Given the description of an element on the screen output the (x, y) to click on. 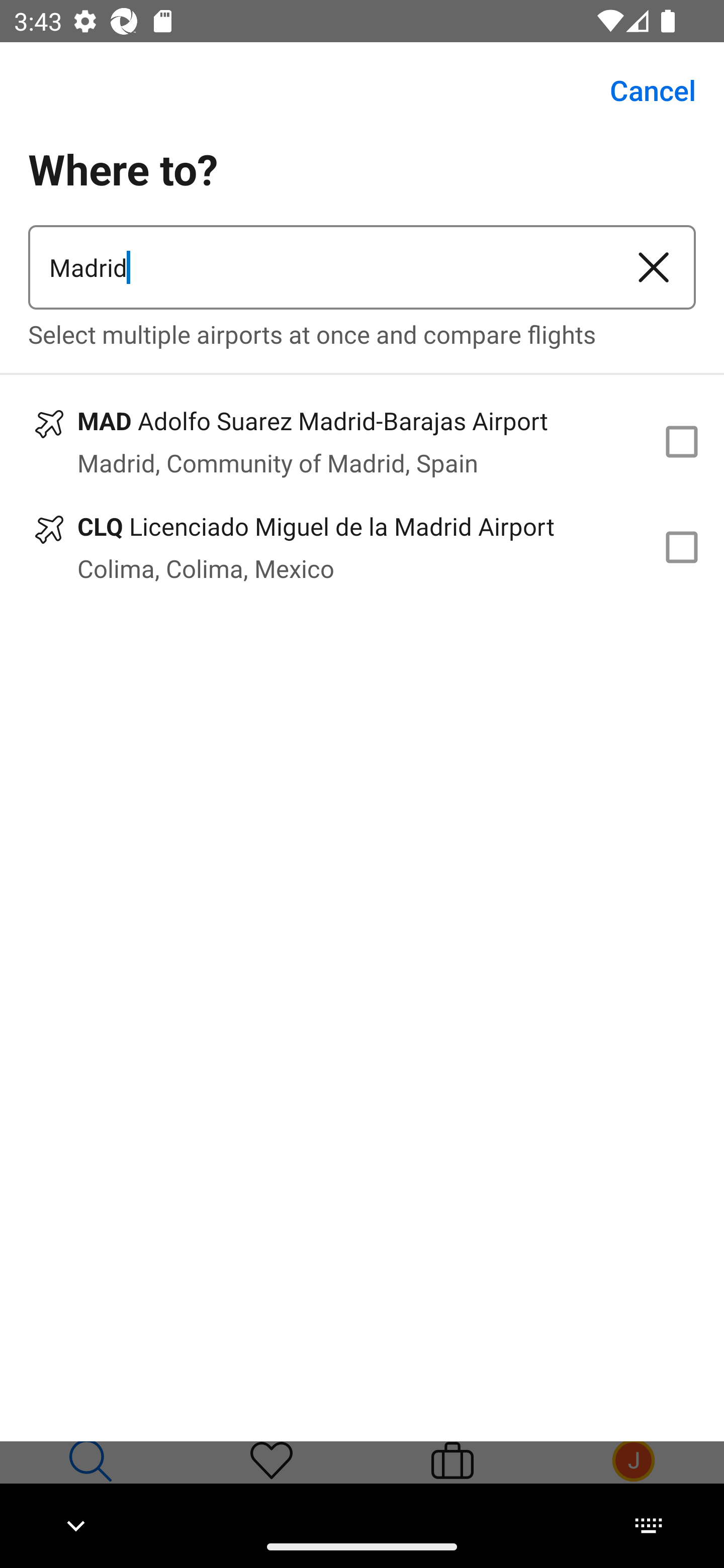
Cancel (641, 90)
Madrid (319, 266)
Clear airport or city (653, 266)
